Given the description of an element on the screen output the (x, y) to click on. 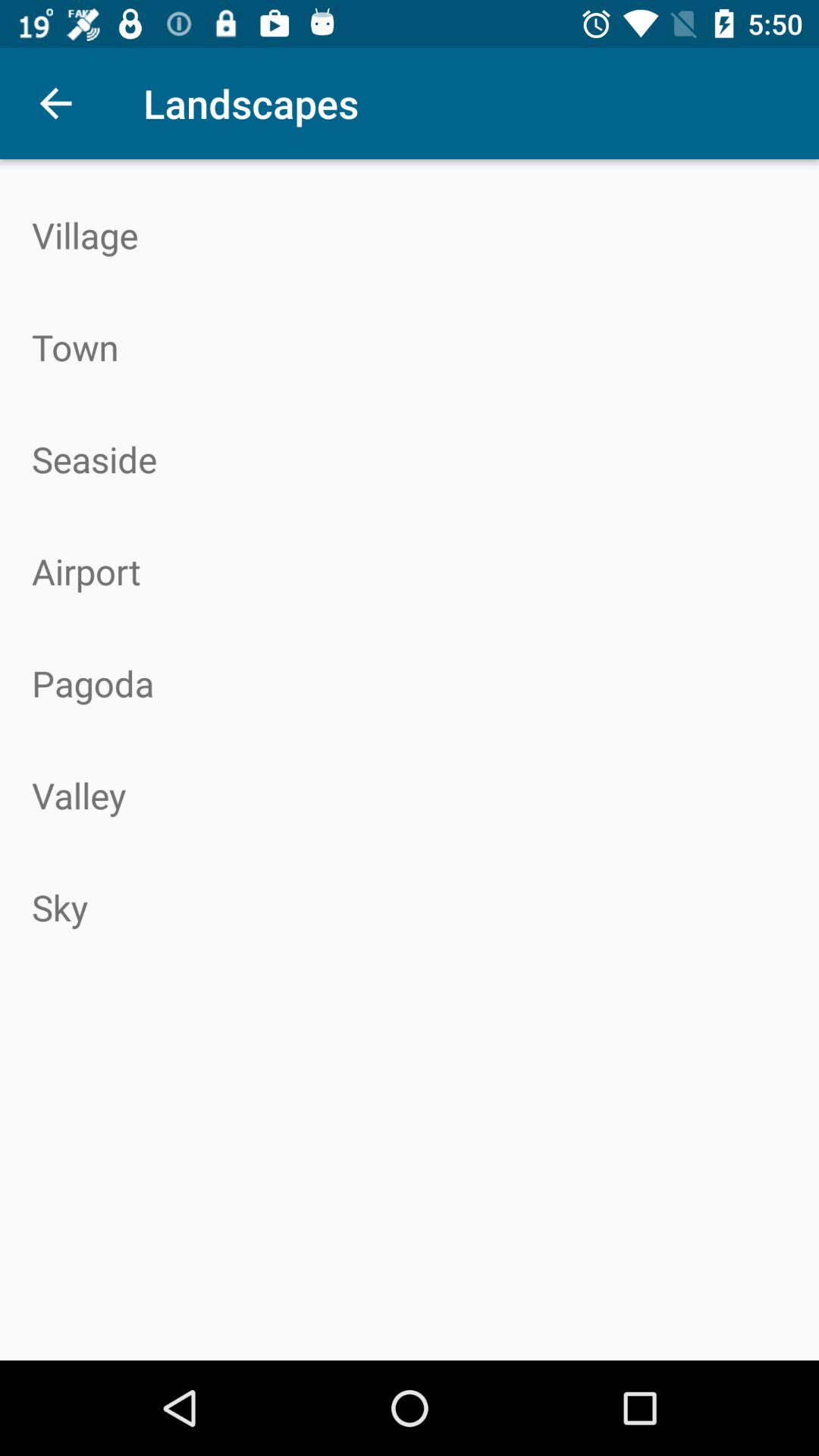
select icon above village icon (55, 103)
